Given the description of an element on the screen output the (x, y) to click on. 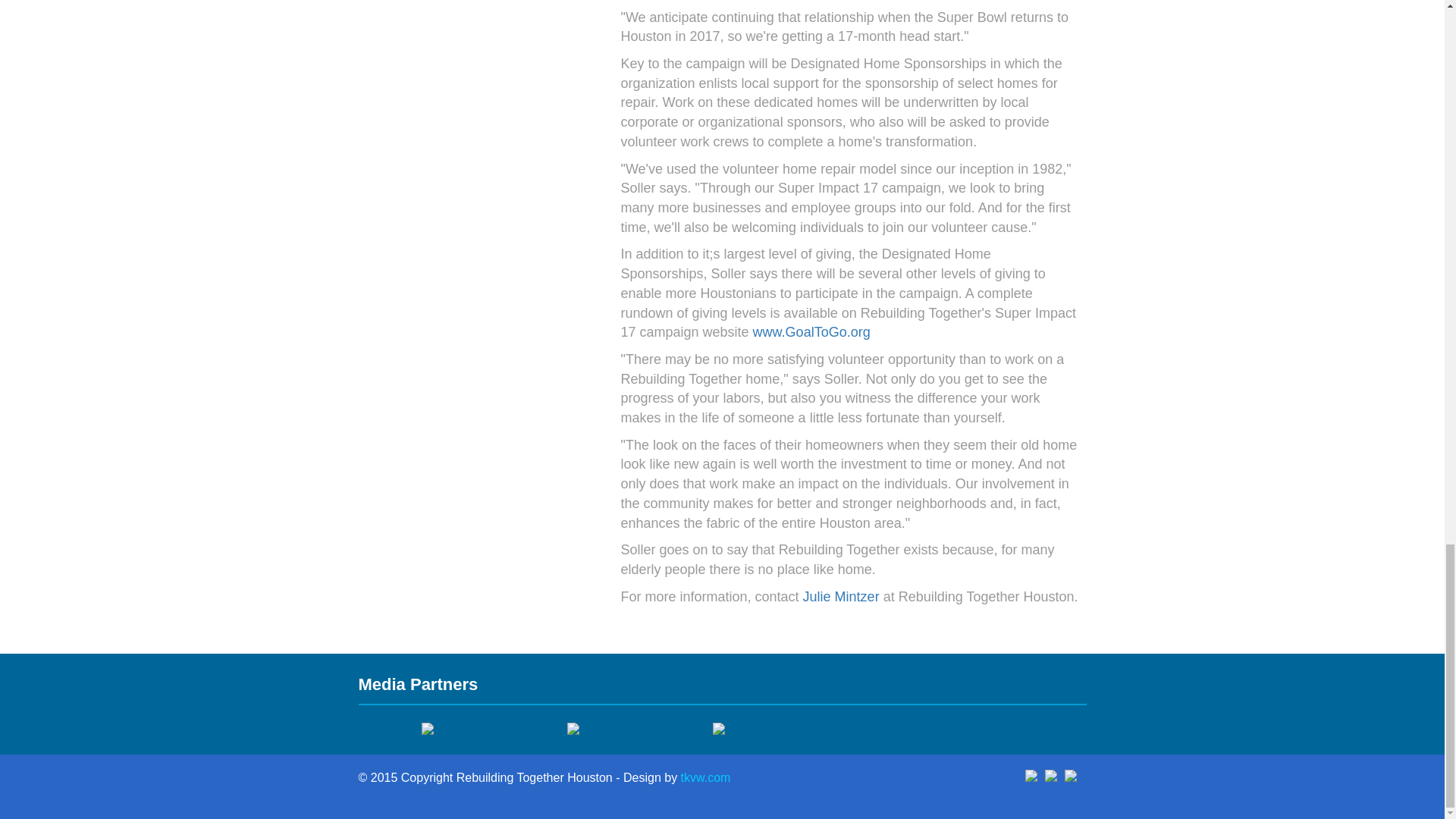
tkvw.com (705, 777)
Julie Mintzer (841, 596)
www.GoalToGo.org (811, 331)
